Given the description of an element on the screen output the (x, y) to click on. 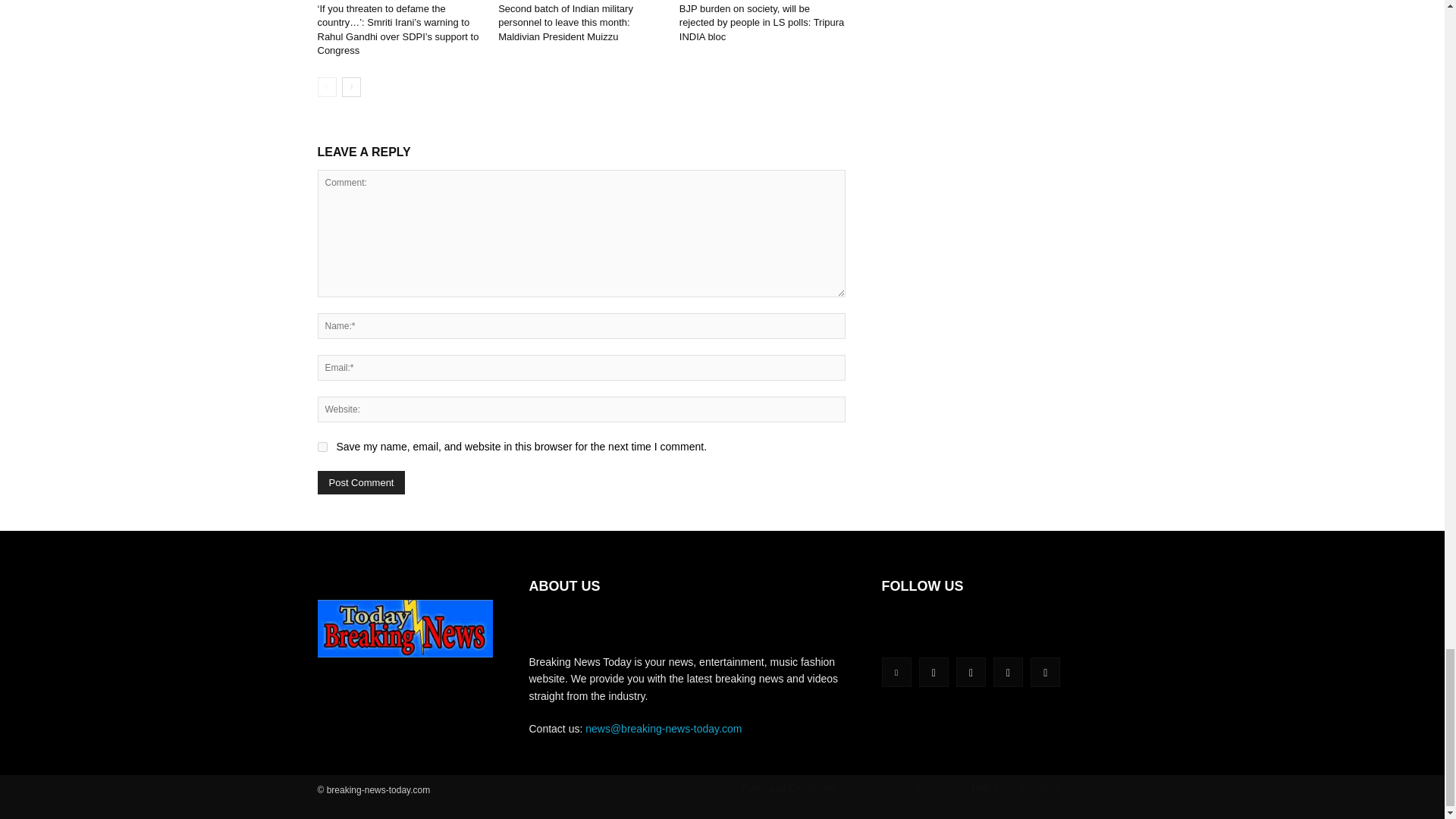
Post Comment (360, 482)
yes (321, 447)
